Given the description of an element on the screen output the (x, y) to click on. 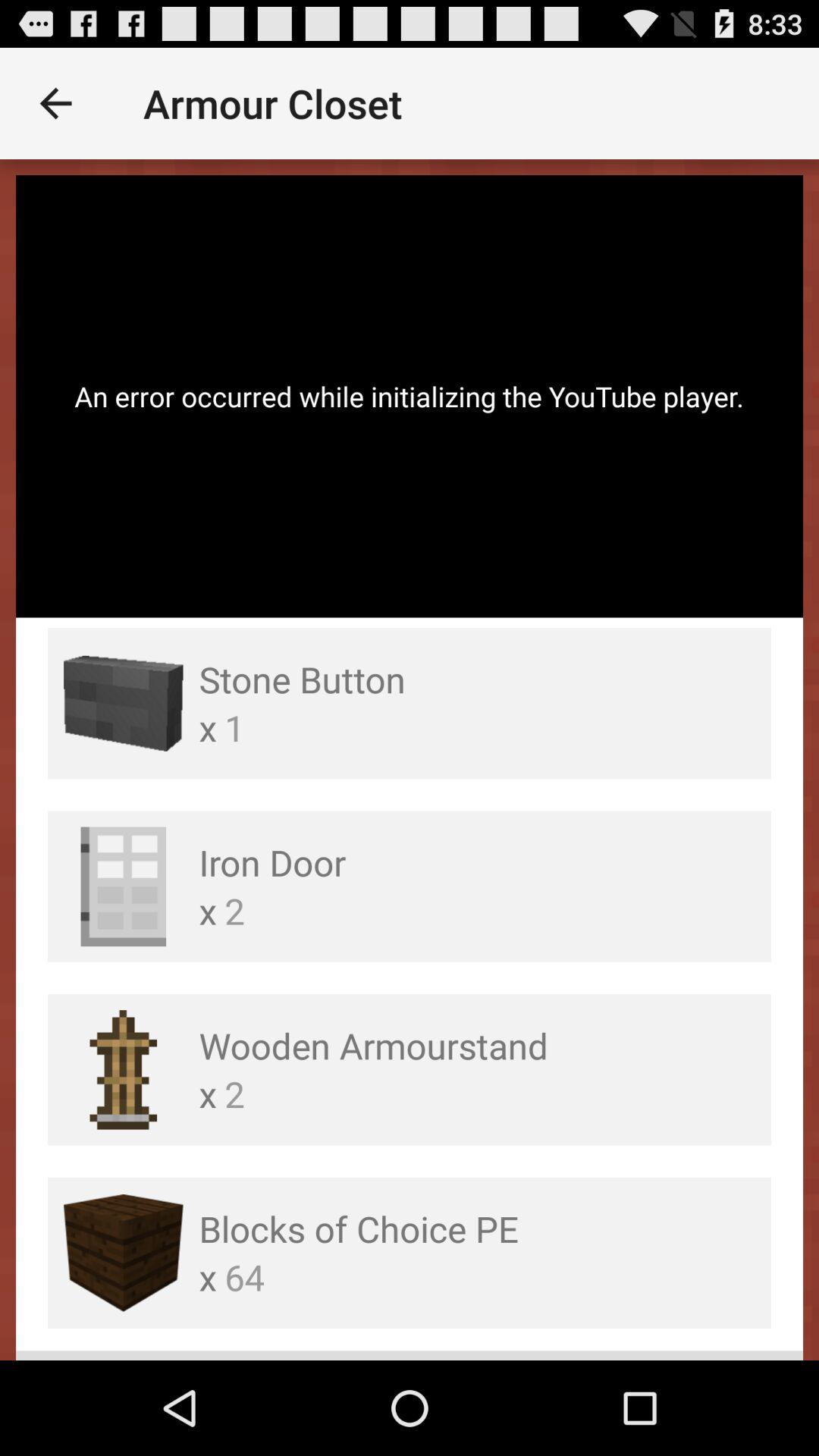
launch item next to the armour closet icon (55, 103)
